Given the description of an element on the screen output the (x, y) to click on. 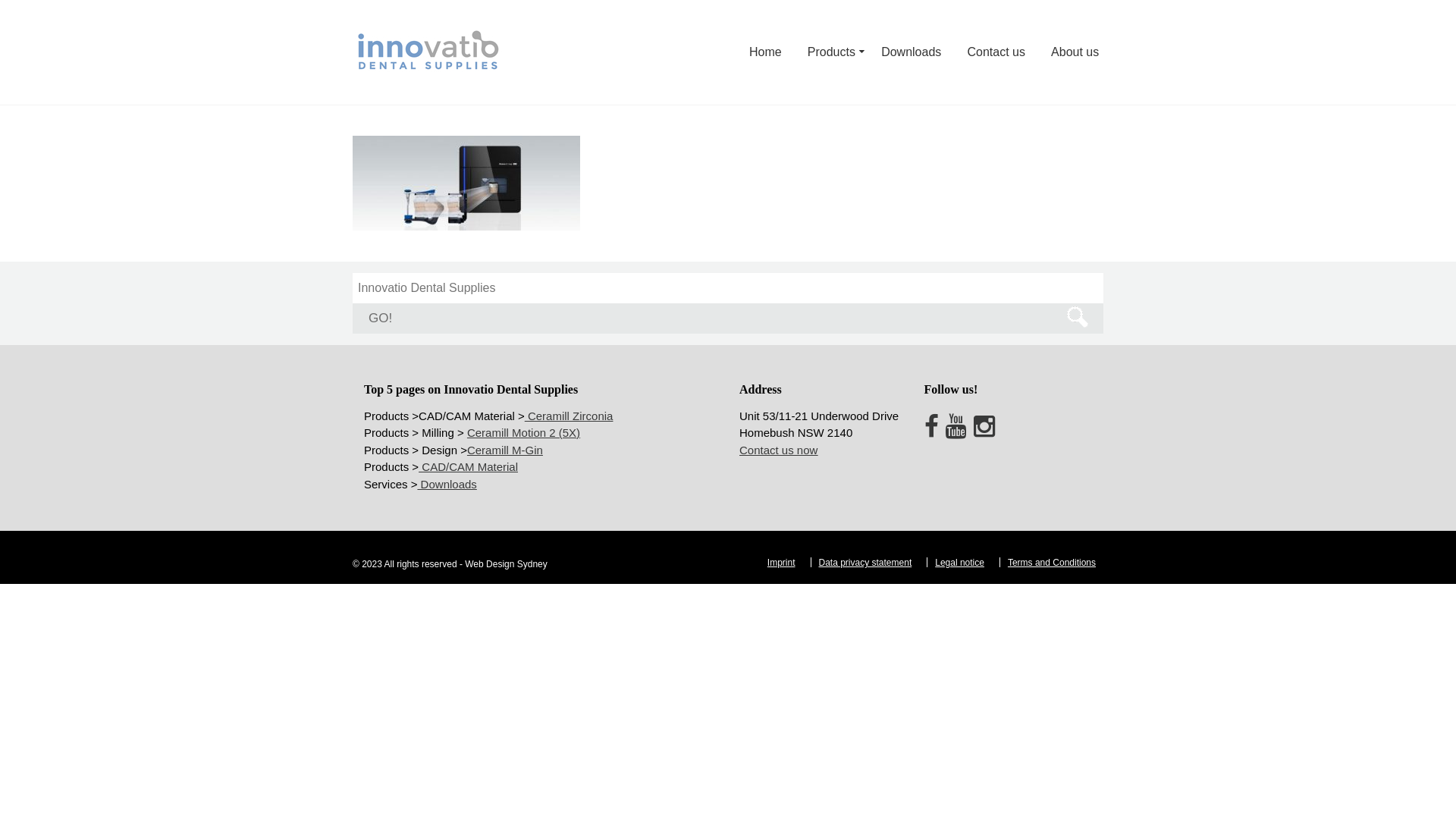
Terms and Conditions Element type: text (1051, 562)
Legal notice Element type: text (959, 562)
Web Design Sydney Element type: text (505, 563)
Downloads Element type: text (446, 483)
Downloads Element type: text (910, 51)
Contact us Element type: text (995, 51)
CAD/CAM Material Element type: text (467, 466)
Skip to content Element type: text (0, 0)
About us Element type: text (1068, 51)
Ceramill M-Gin Element type: text (504, 448)
Home Element type: text (765, 51)
GO! Element type: text (727, 318)
Contact us now Element type: text (778, 448)
Ceramill Zirconia Element type: text (568, 415)
Data privacy statement Element type: text (865, 562)
Ceramill Motion 2 (5X) Element type: text (523, 432)
Products Element type: text (831, 51)
Imprint Element type: text (781, 562)
